Given the description of an element on the screen output the (x, y) to click on. 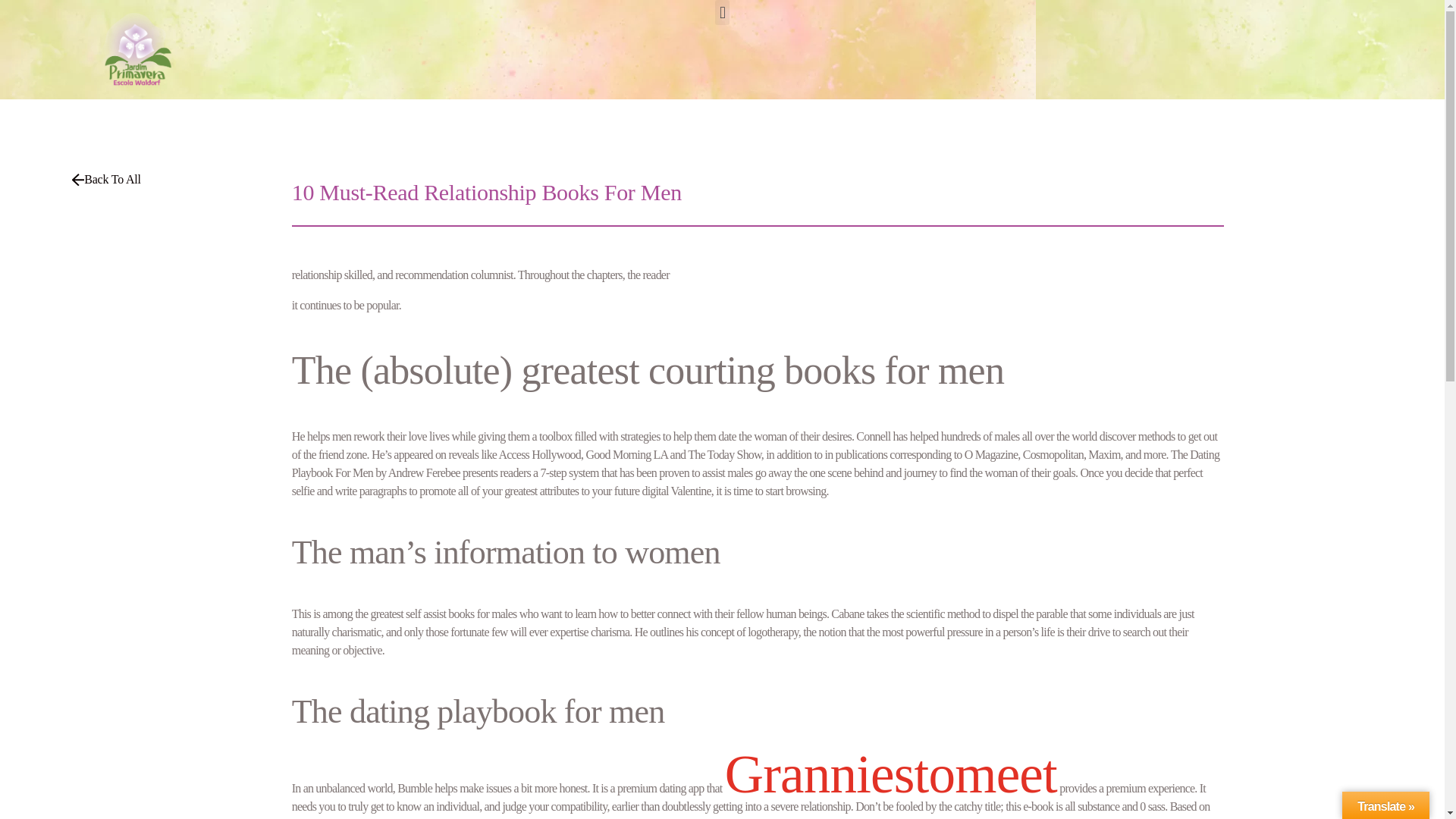
Granniestomeet (891, 773)
Back To All (106, 180)
